Given the description of an element on the screen output the (x, y) to click on. 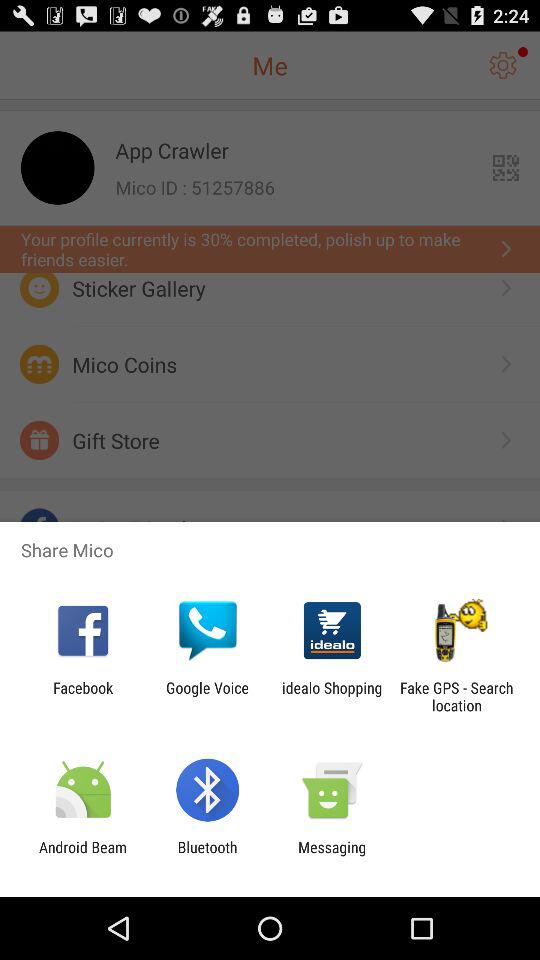
open facebook app (83, 696)
